Given the description of an element on the screen output the (x, y) to click on. 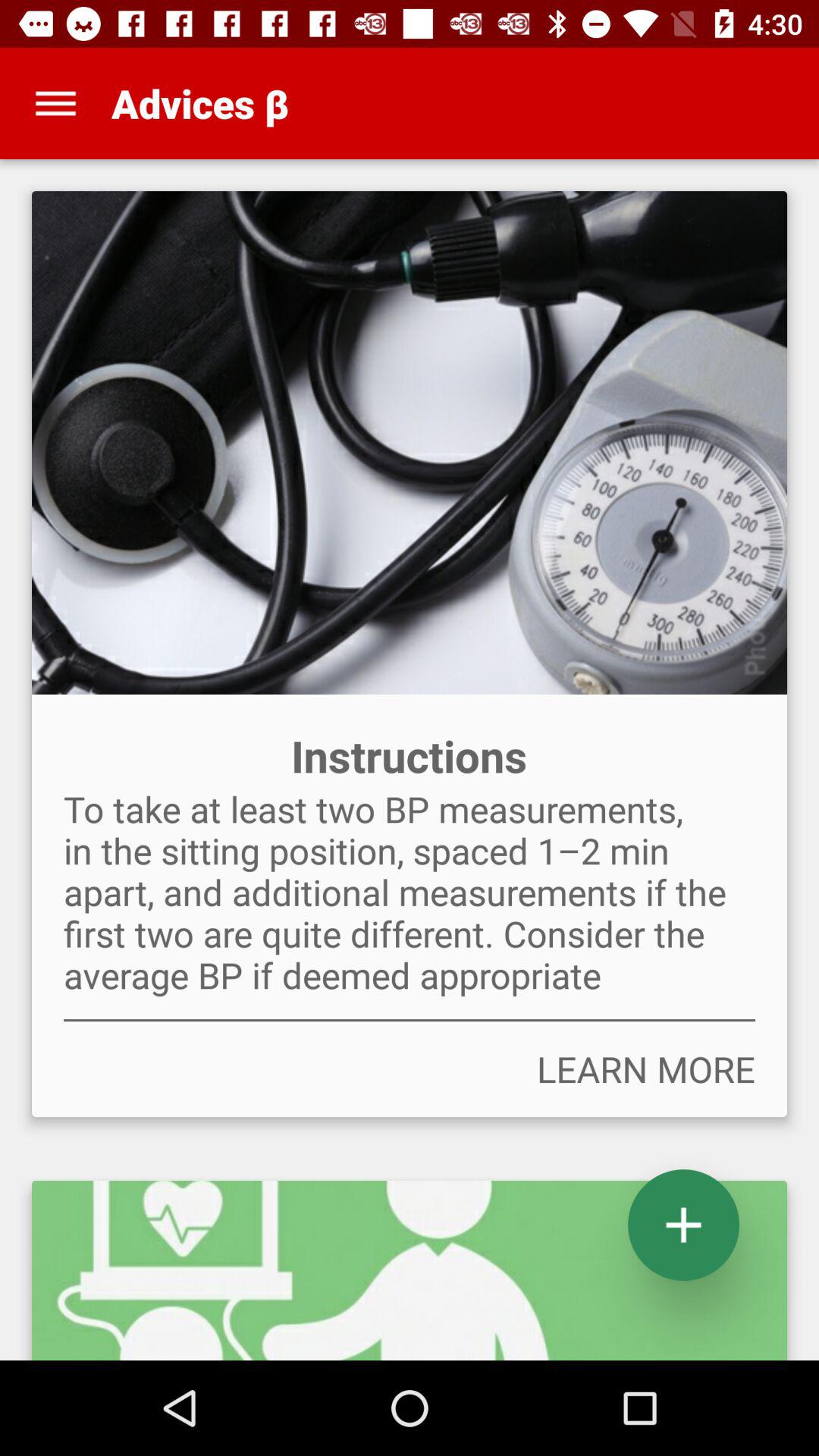
flip until the learn more button (409, 1069)
